Given the description of an element on the screen output the (x, y) to click on. 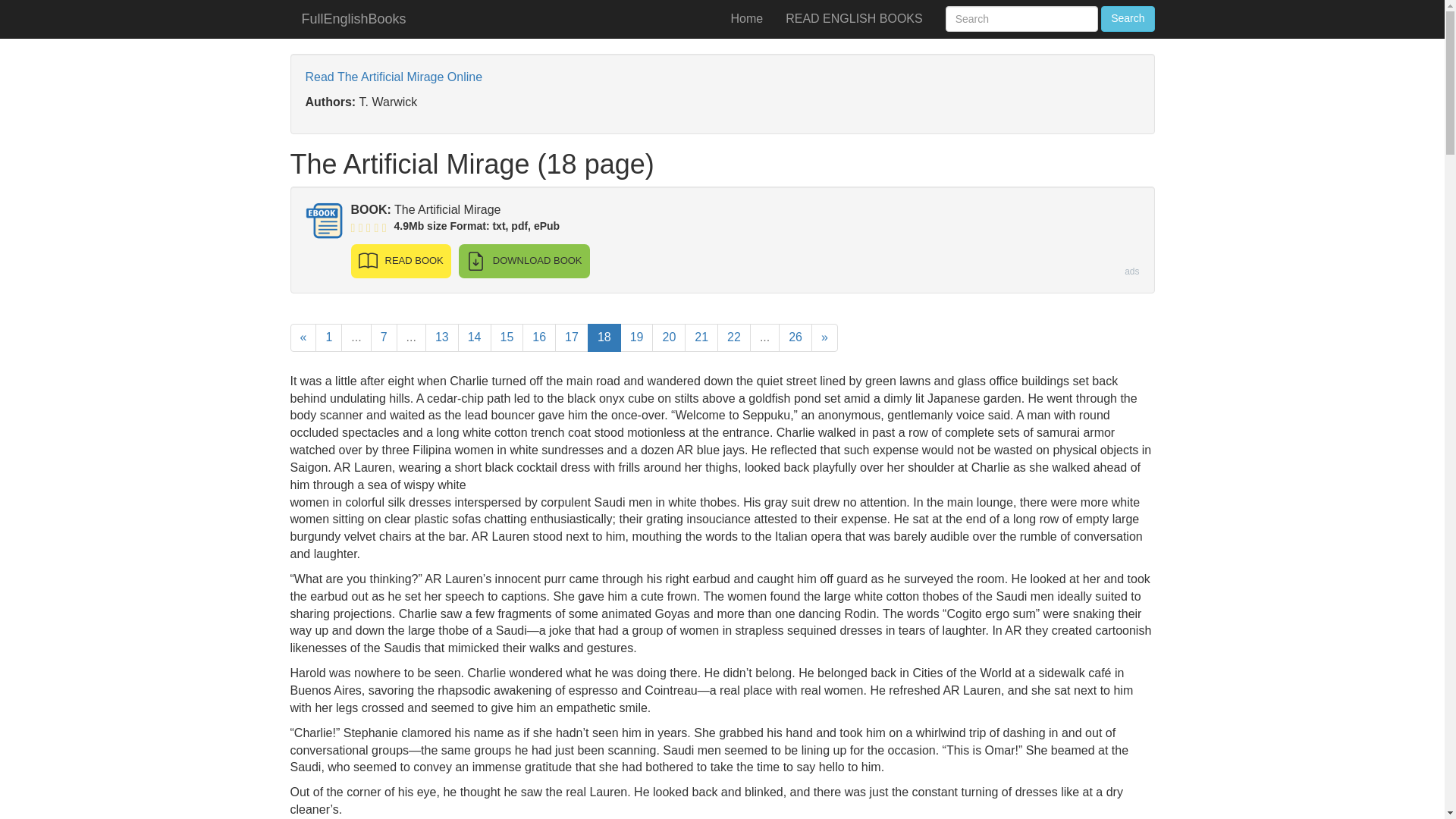
1 (328, 337)
15 (505, 337)
READ ENGLISH BOOKS (854, 18)
Search (1127, 18)
Read The Artificial Mirage Online (392, 76)
READ BOOK (399, 261)
17 (571, 337)
22 (734, 337)
14 (475, 337)
26 (795, 337)
DOWNLOAD BOOK (523, 261)
20 (668, 337)
21 (700, 337)
FullEnglishBooks (352, 18)
19 (636, 337)
